Given the description of an element on the screen output the (x, y) to click on. 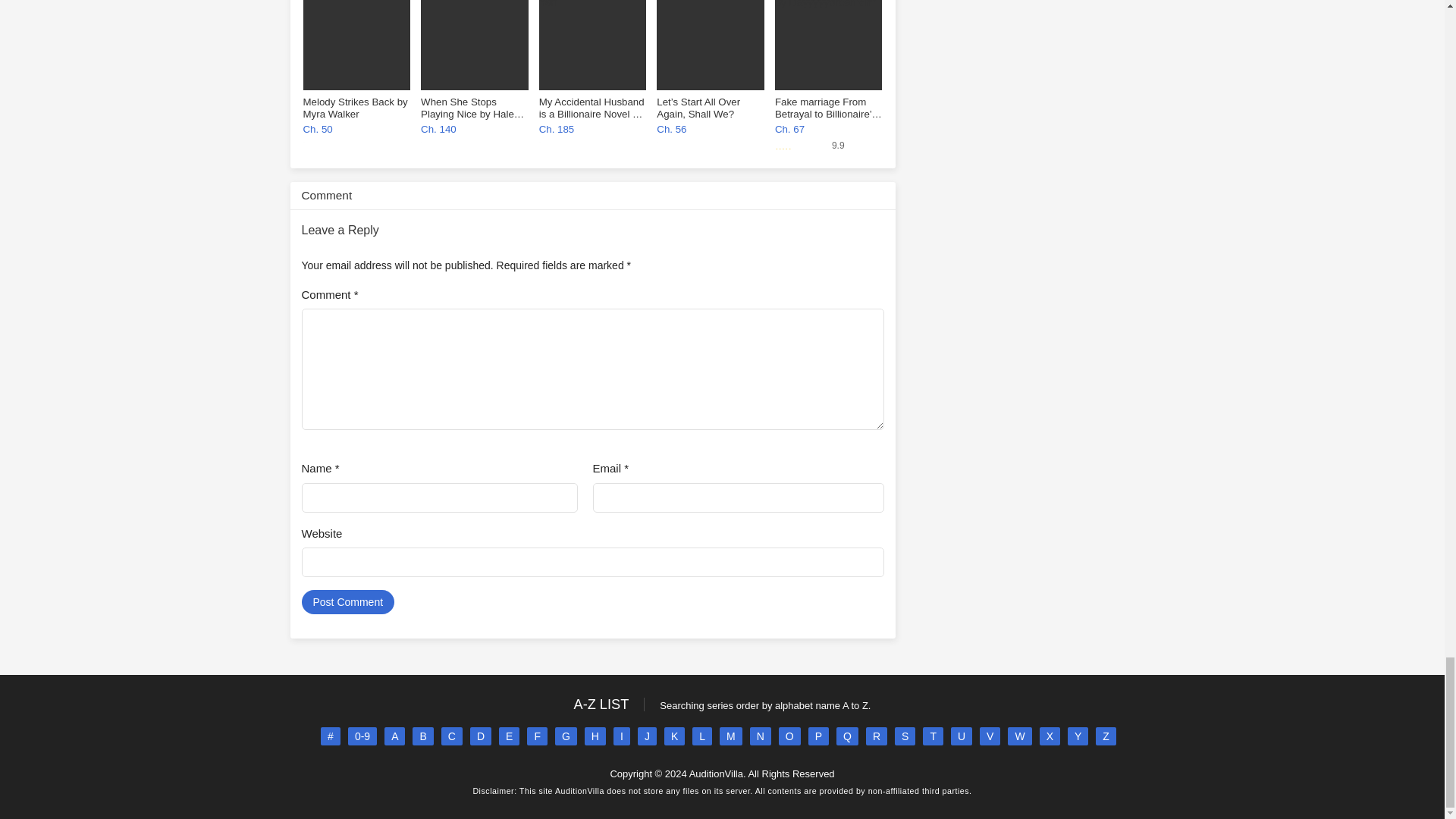
Post Comment (347, 601)
Post Comment (347, 601)
Melody Strikes Back by Myra Walker (356, 49)
My Accidental Husband is a Billionaire Novel by Mr Yan (592, 49)
When She Stops Playing Nice by Hale Saxon (474, 49)
